Given the description of an element on the screen output the (x, y) to click on. 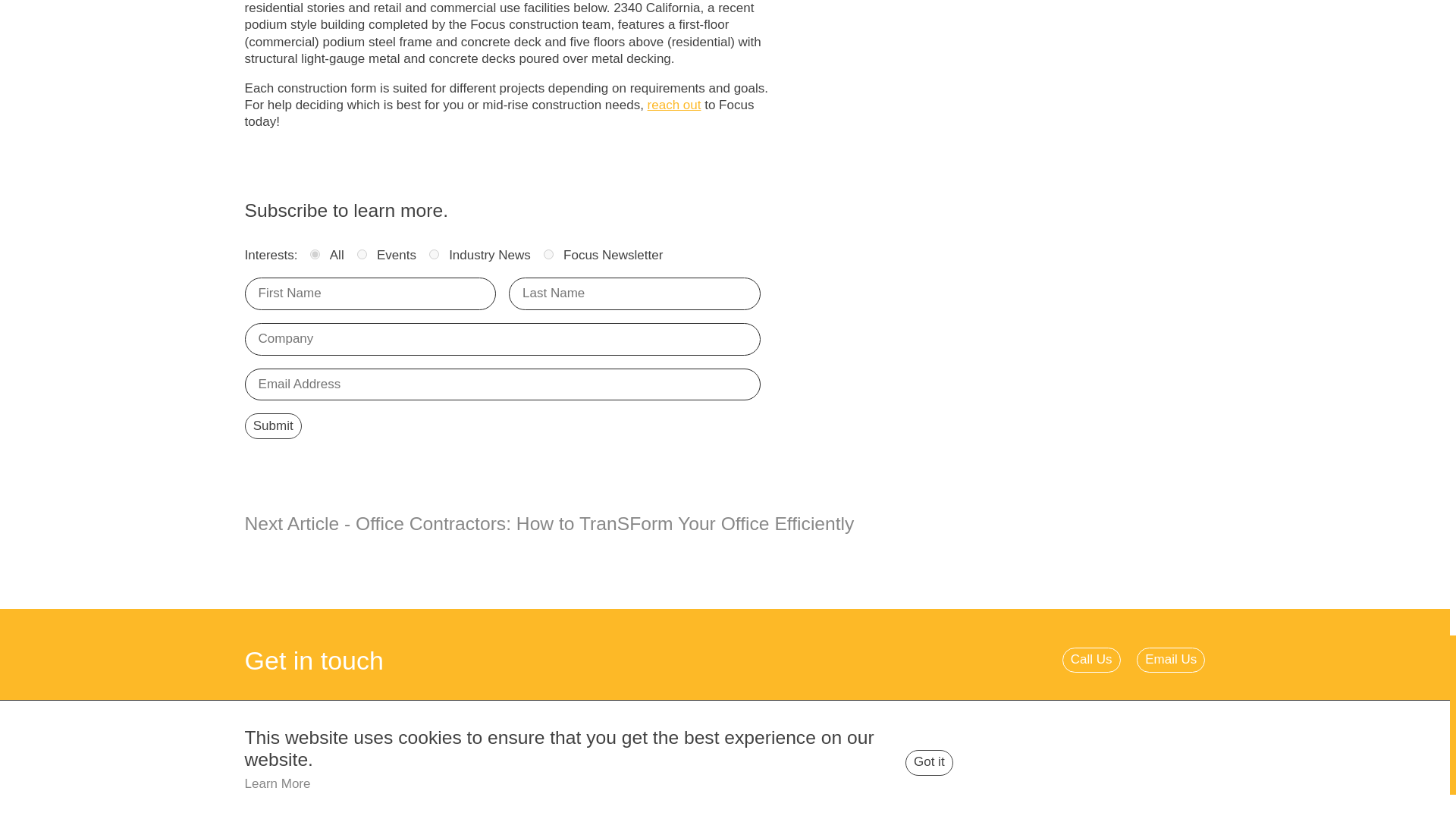
reach out (674, 104)
Email Us (1171, 659)
847 441 0474 (908, 755)
All (315, 254)
Submit (272, 425)
Industry News (434, 254)
Call Us (1091, 659)
Events (361, 254)
Focus Newsletter (548, 254)
